Given the description of an element on the screen output the (x, y) to click on. 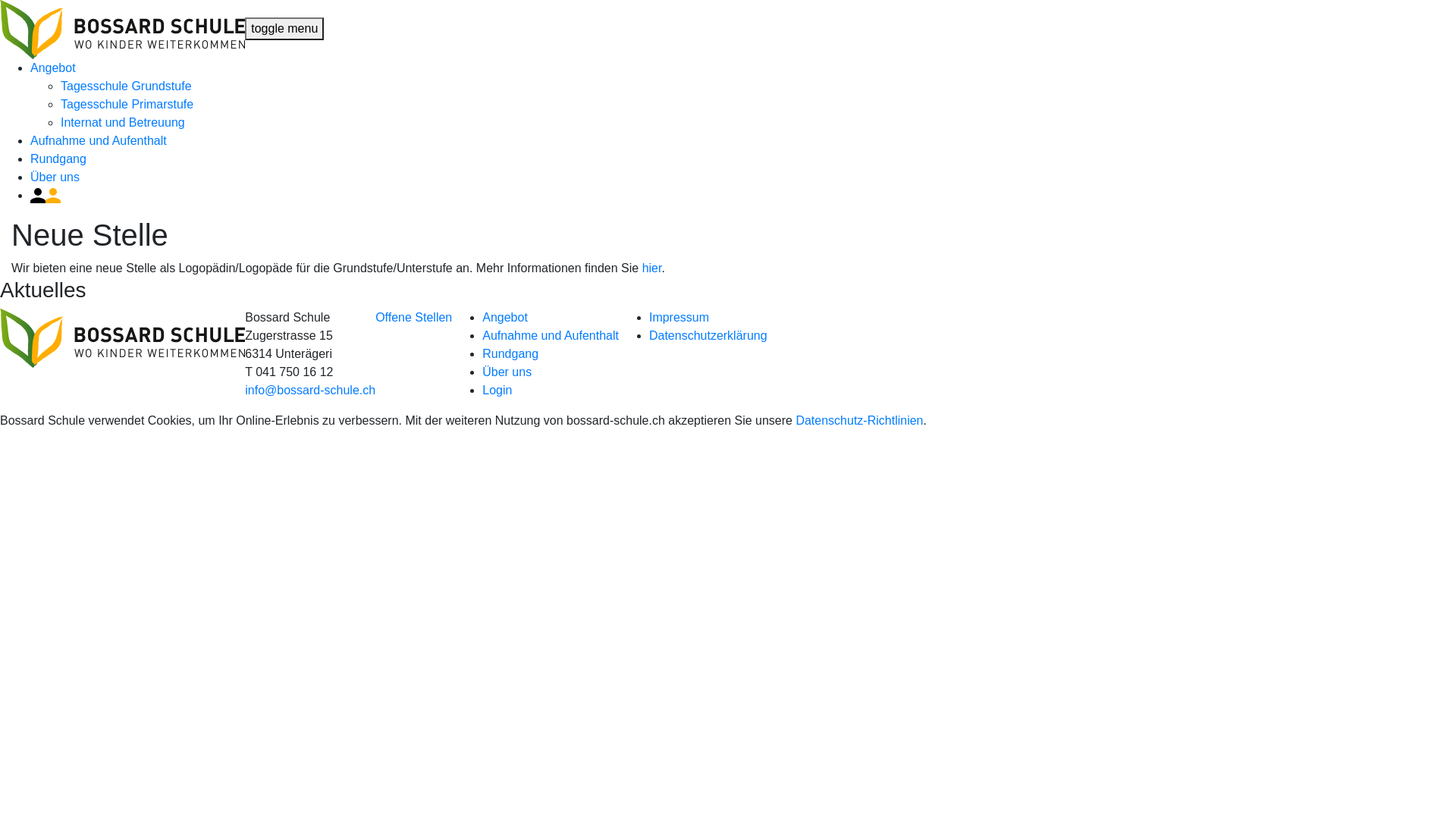
Internat und Betreuung Element type: text (122, 122)
Tagesschule Primarstufe Element type: text (126, 103)
Login Element type: text (496, 389)
Offene Stellen Element type: text (413, 316)
Rundgang Element type: text (58, 158)
Aufnahme und Aufenthalt Element type: text (98, 140)
Datenschutz-Richtlinien Element type: text (858, 420)
Tagesschule Grundstufe Element type: text (125, 85)
hier Element type: text (652, 267)
Angebot Element type: text (504, 316)
Angebot Element type: text (52, 67)
toggle menu Element type: text (283, 28)
Impressum Element type: text (679, 316)
Aufnahme und Aufenthalt Element type: text (550, 335)
Rundgang Element type: text (510, 353)
info@bossard-schule.ch Element type: text (309, 389)
